Given the description of an element on the screen output the (x, y) to click on. 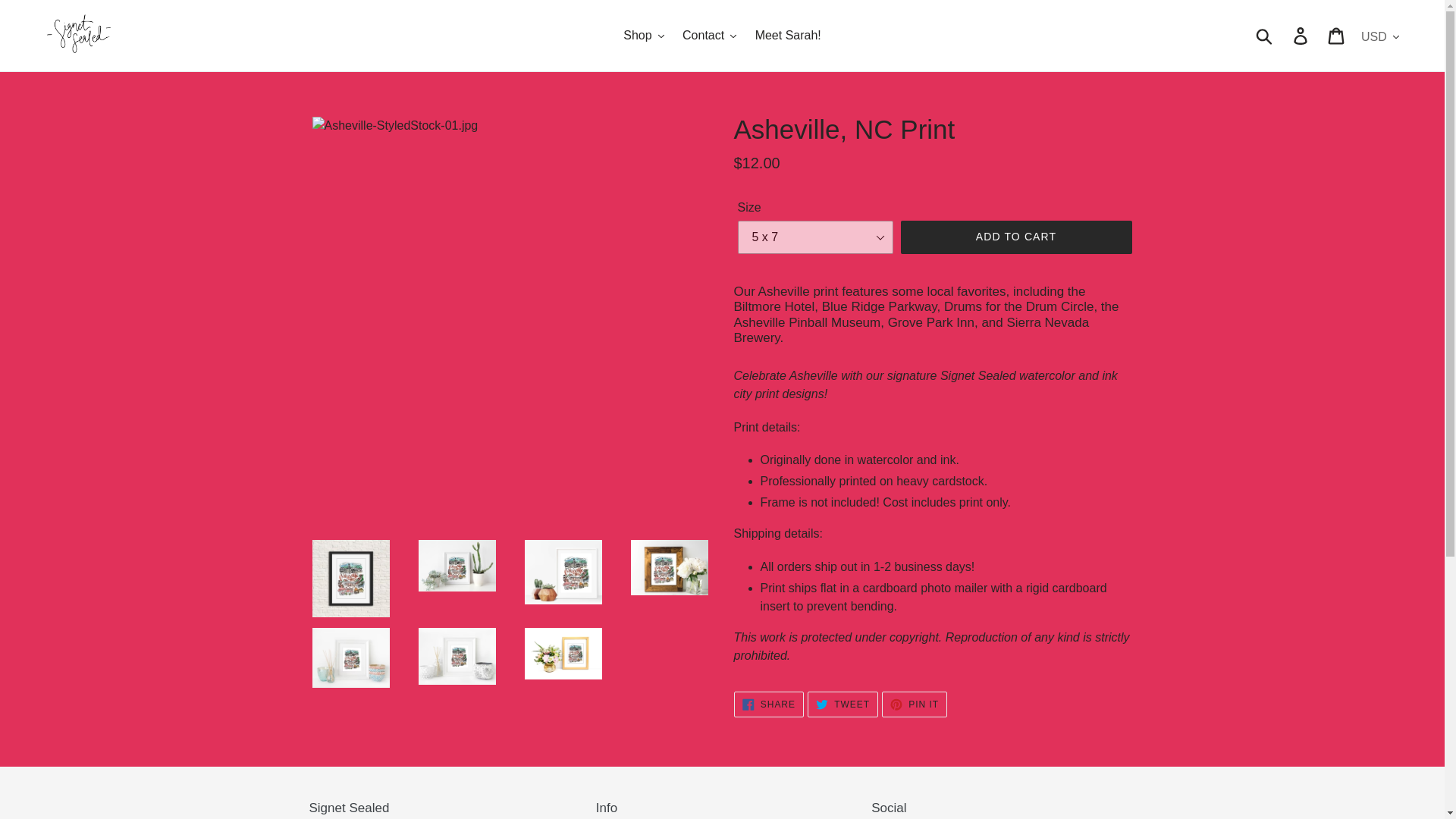
Cart (1337, 35)
Meet Sarah! (842, 704)
ADD TO CART (914, 704)
Submit (788, 35)
Log in (768, 704)
